Given the description of an element on the screen output the (x, y) to click on. 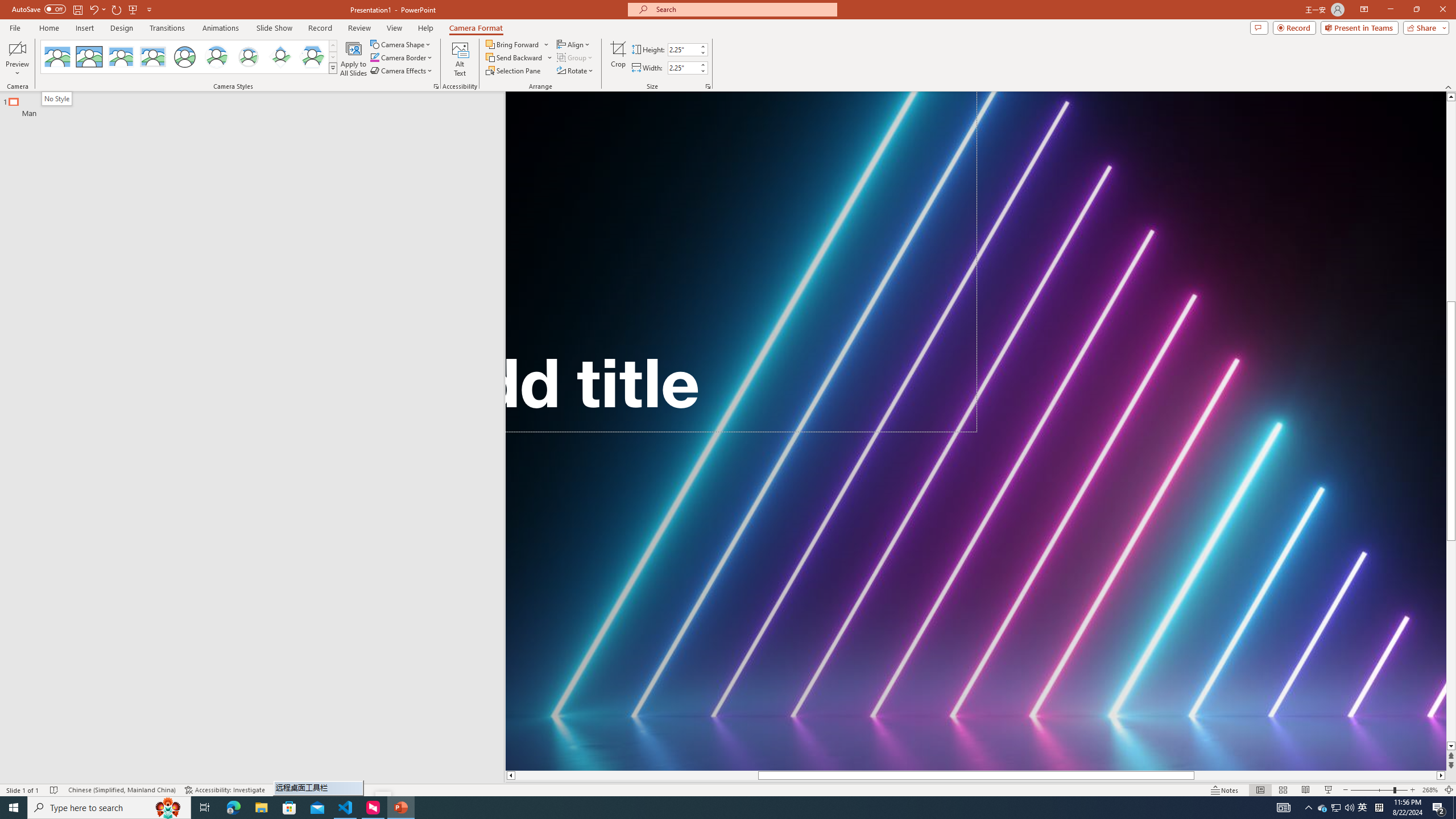
Camera Effects (402, 69)
Center Shadow Hexagon (312, 56)
Group (575, 56)
Rectangle (246, 437)
Camera Format (475, 28)
Crop (617, 58)
Camera Border (401, 56)
Camera Border Blue, Accent 1 (374, 56)
Center Shadow Rectangle (120, 56)
Align (574, 44)
